Given the description of an element on the screen output the (x, y) to click on. 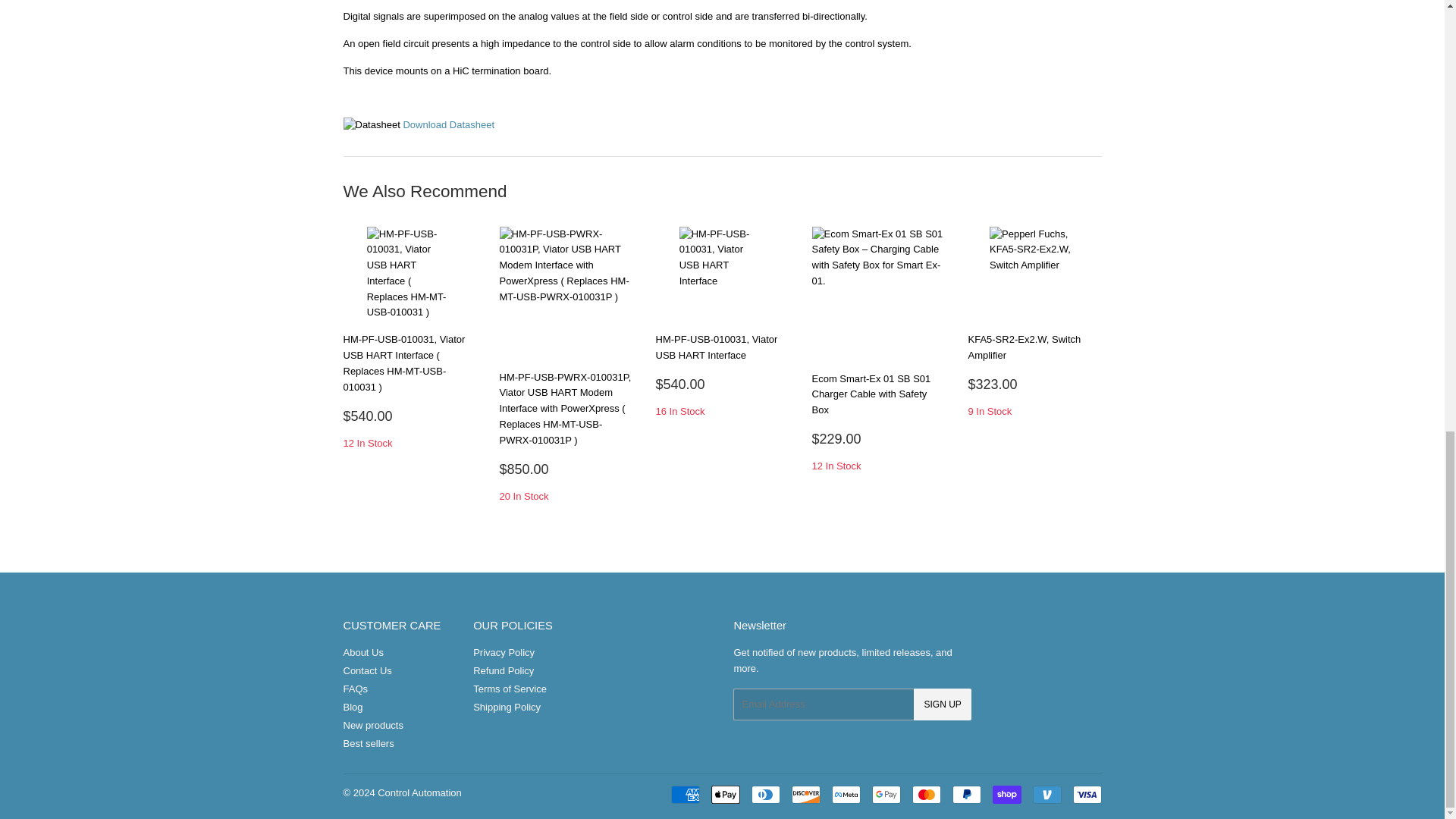
Datasheet (370, 125)
Diners Club (764, 794)
Download Datasheet (449, 124)
PayPal (966, 794)
Mastercard (925, 794)
Discover (806, 794)
Visa (1085, 794)
Venmo (1046, 794)
Apple Pay (725, 794)
American Express (683, 794)
Shop Pay (1005, 794)
Google Pay (886, 794)
Meta Pay (845, 794)
Download Datasheet (449, 124)
